Given the description of an element on the screen output the (x, y) to click on. 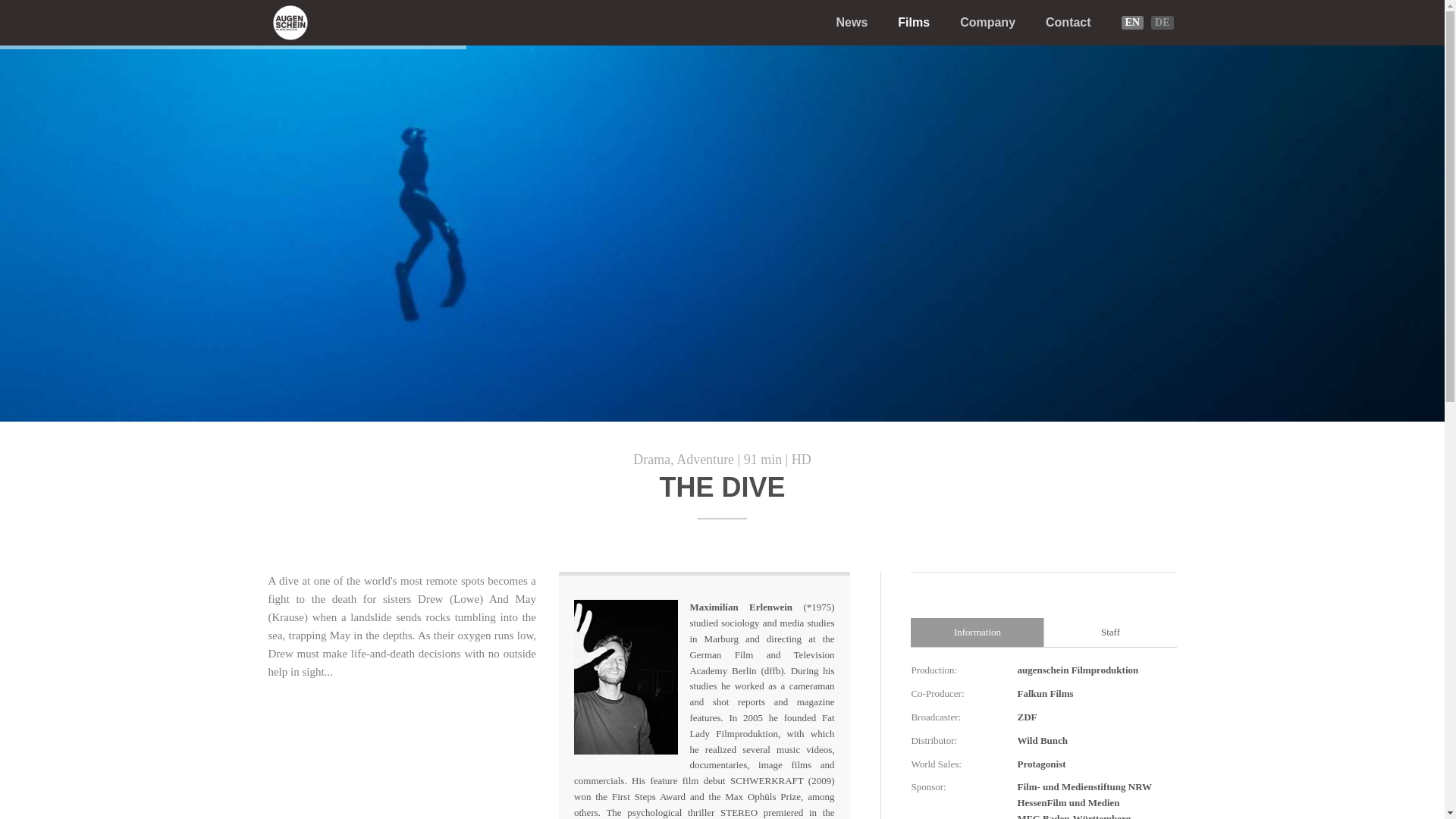
Company (986, 22)
Company (986, 22)
Contact (1067, 22)
Information (977, 632)
augenschein Filmproduktion (289, 22)
Staff (1109, 632)
Contact (1067, 22)
